Given the description of an element on the screen output the (x, y) to click on. 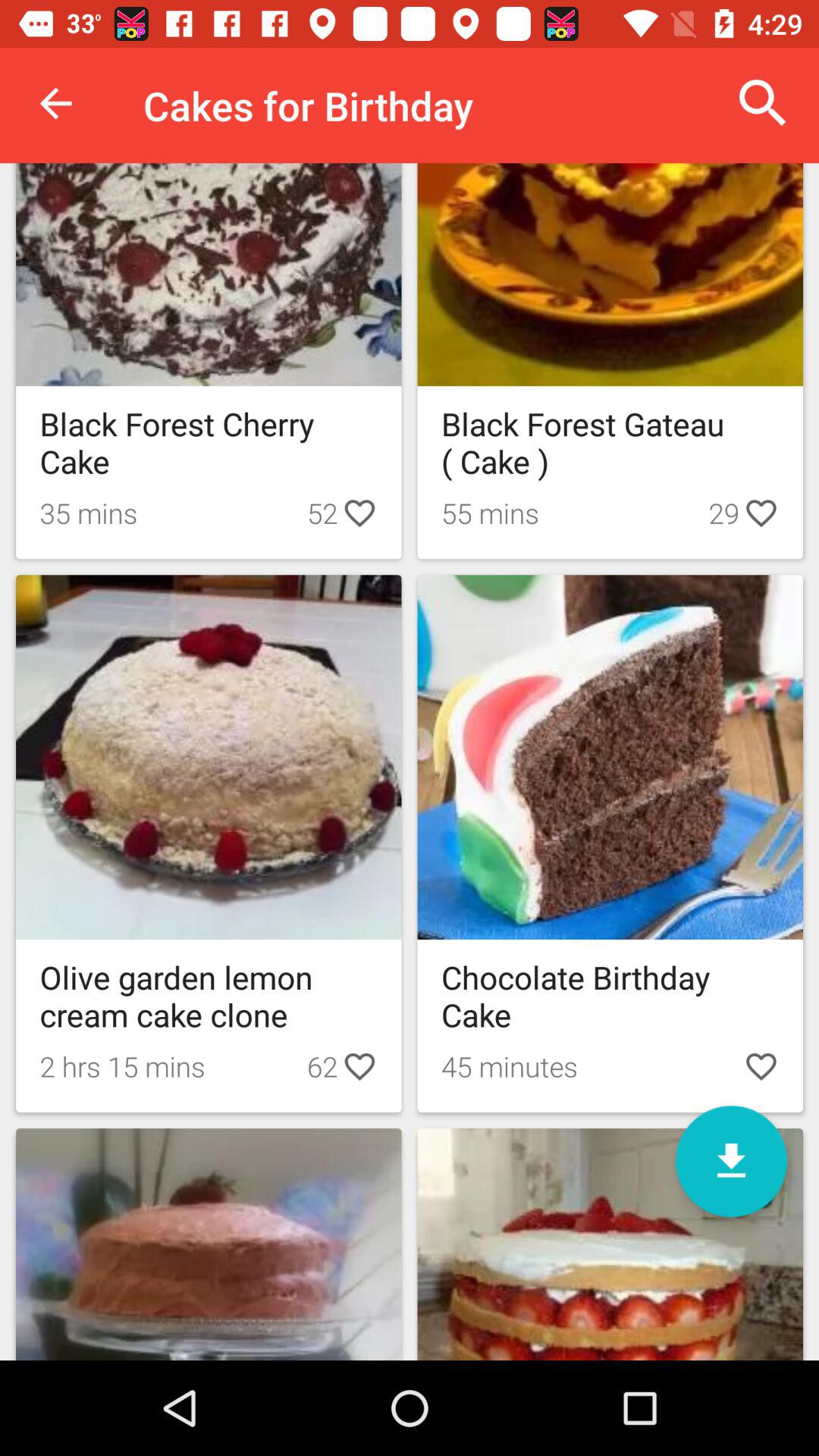
open downloads option (731, 1161)
